Given the description of an element on the screen output the (x, y) to click on. 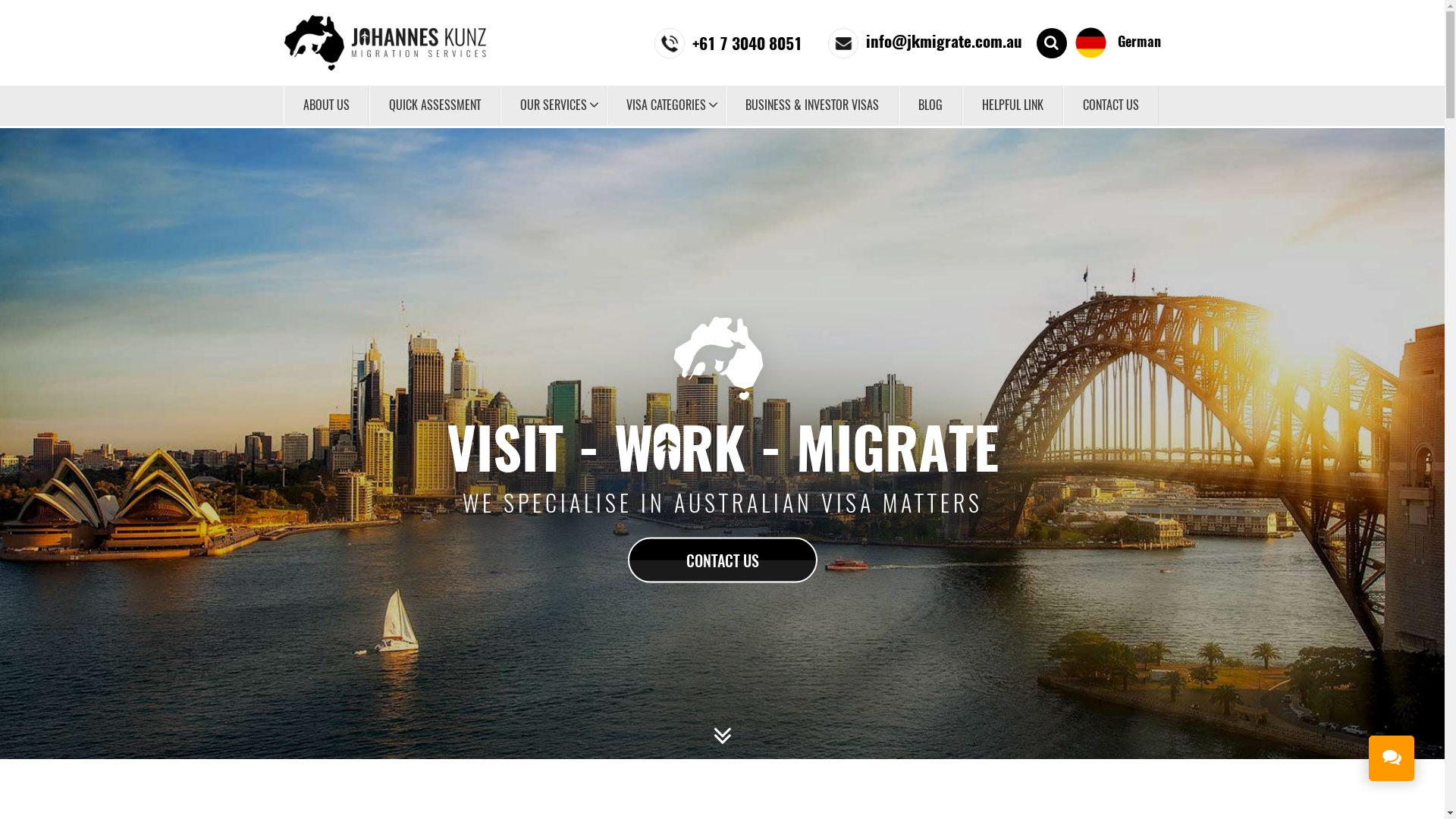
info@jkmigrate.com.au Element type: text (925, 40)
+61 7 3040 8051 Element type: text (727, 40)
CONTACT US Element type: text (722, 559)
VISA CATEGORIES Element type: text (665, 105)
ABOUT US Element type: text (326, 105)
HELPFUL LINK Element type: text (1011, 105)
BUSINESS & INVESTOR VISAS Element type: text (810, 105)
OUR SERVICES Element type: text (553, 105)
CONTACT US Element type: text (1110, 105)
German Element type: text (1118, 42)
BLOG Element type: text (929, 105)
QUICK ASSESSMENT Element type: text (433, 105)
